Given the description of an element on the screen output the (x, y) to click on. 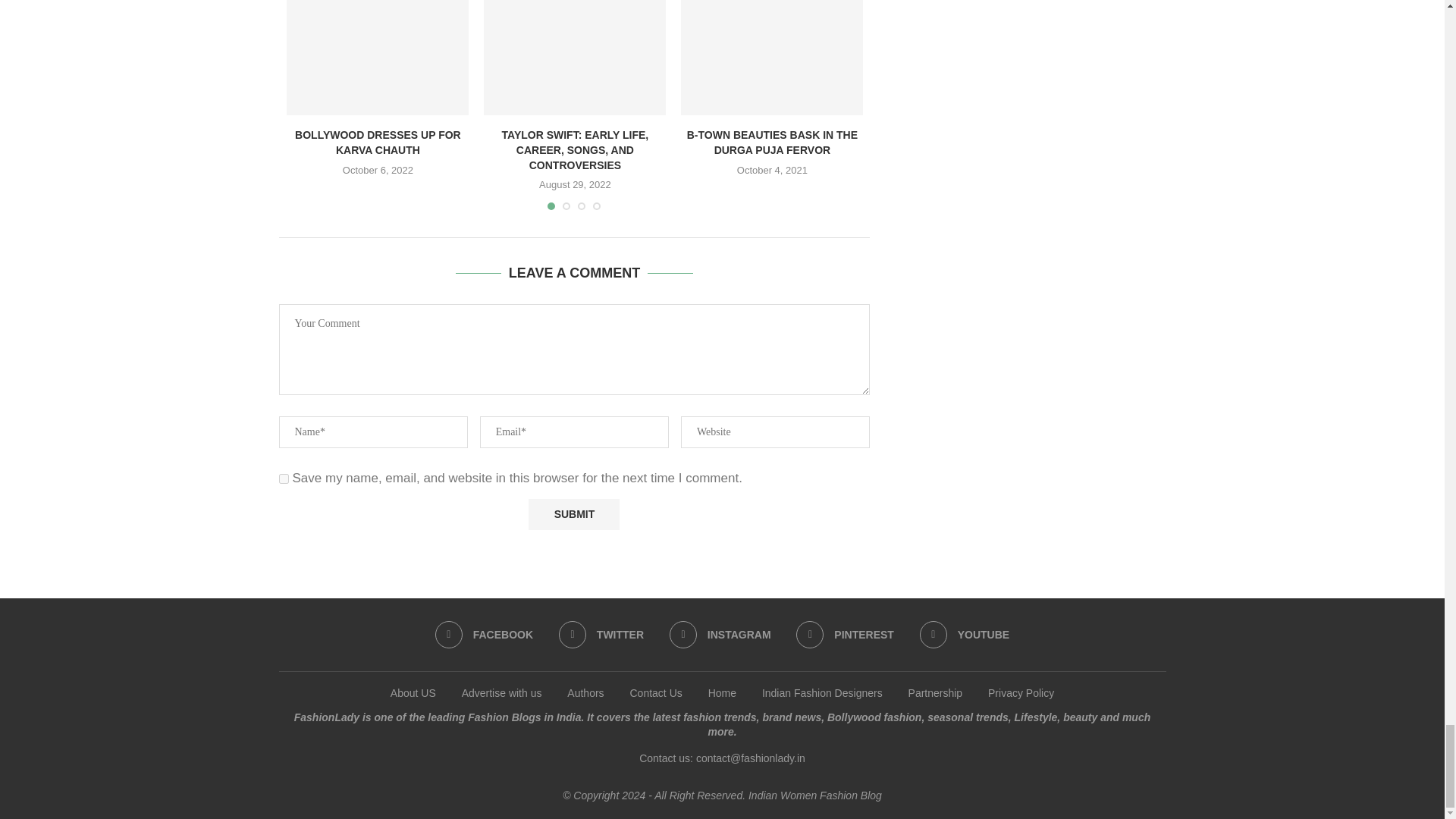
Taylor Swift: Early Life, Career, Songs, And Controversies (574, 57)
yes (283, 479)
Submit (574, 513)
Bollywood Dresses Up For Karva Chauth (377, 57)
